Given the description of an element on the screen output the (x, y) to click on. 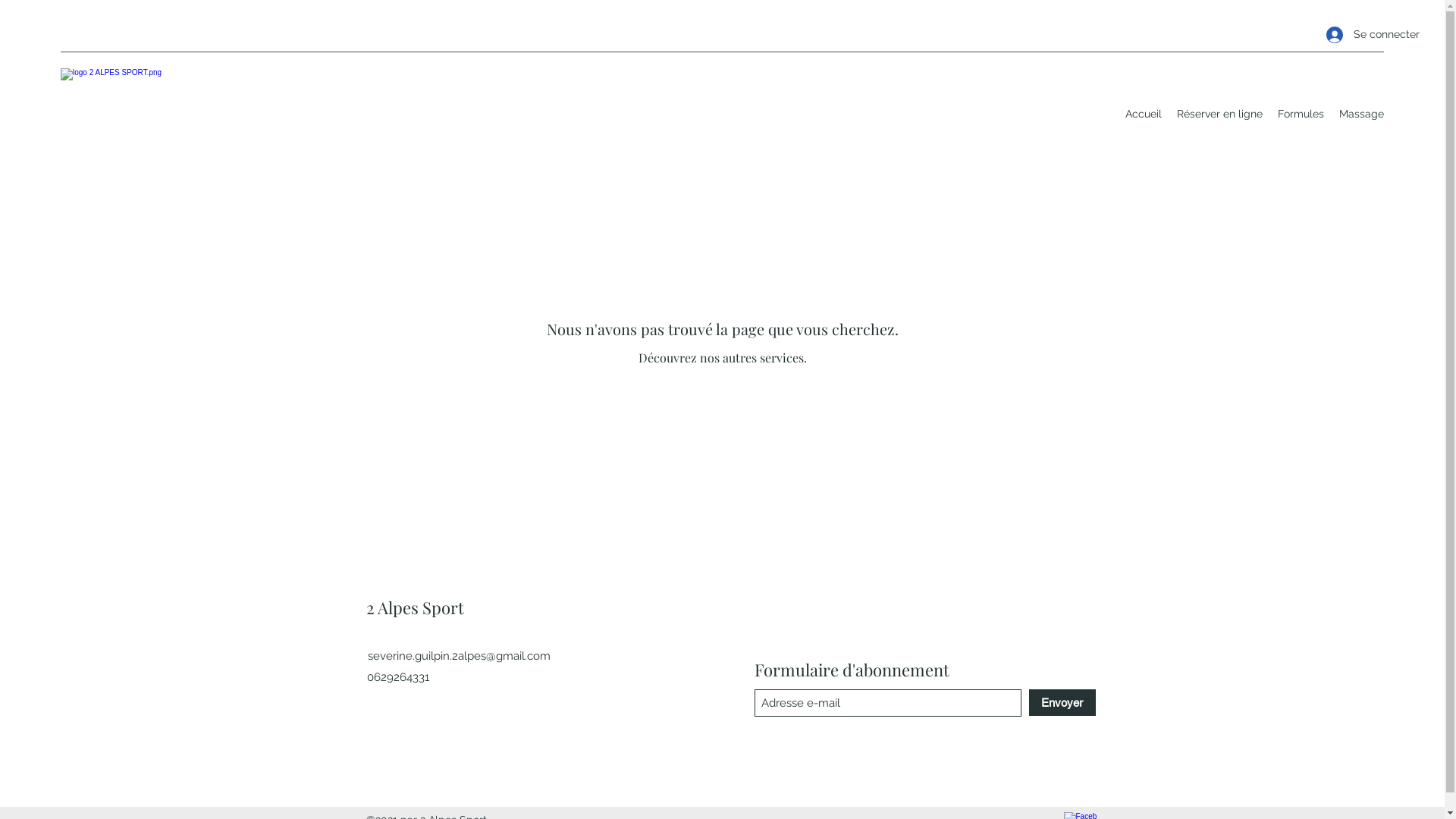
Se connecter Element type: text (1349, 34)
Accueil Element type: text (1143, 113)
2 Alpes Sport Element type: text (414, 607)
severine.guilpin.2alpes@gmail.com Element type: text (458, 655)
Massage Element type: text (1361, 113)
Formules Element type: text (1300, 113)
Envoyer Element type: text (1061, 702)
